Given the description of an element on the screen output the (x, y) to click on. 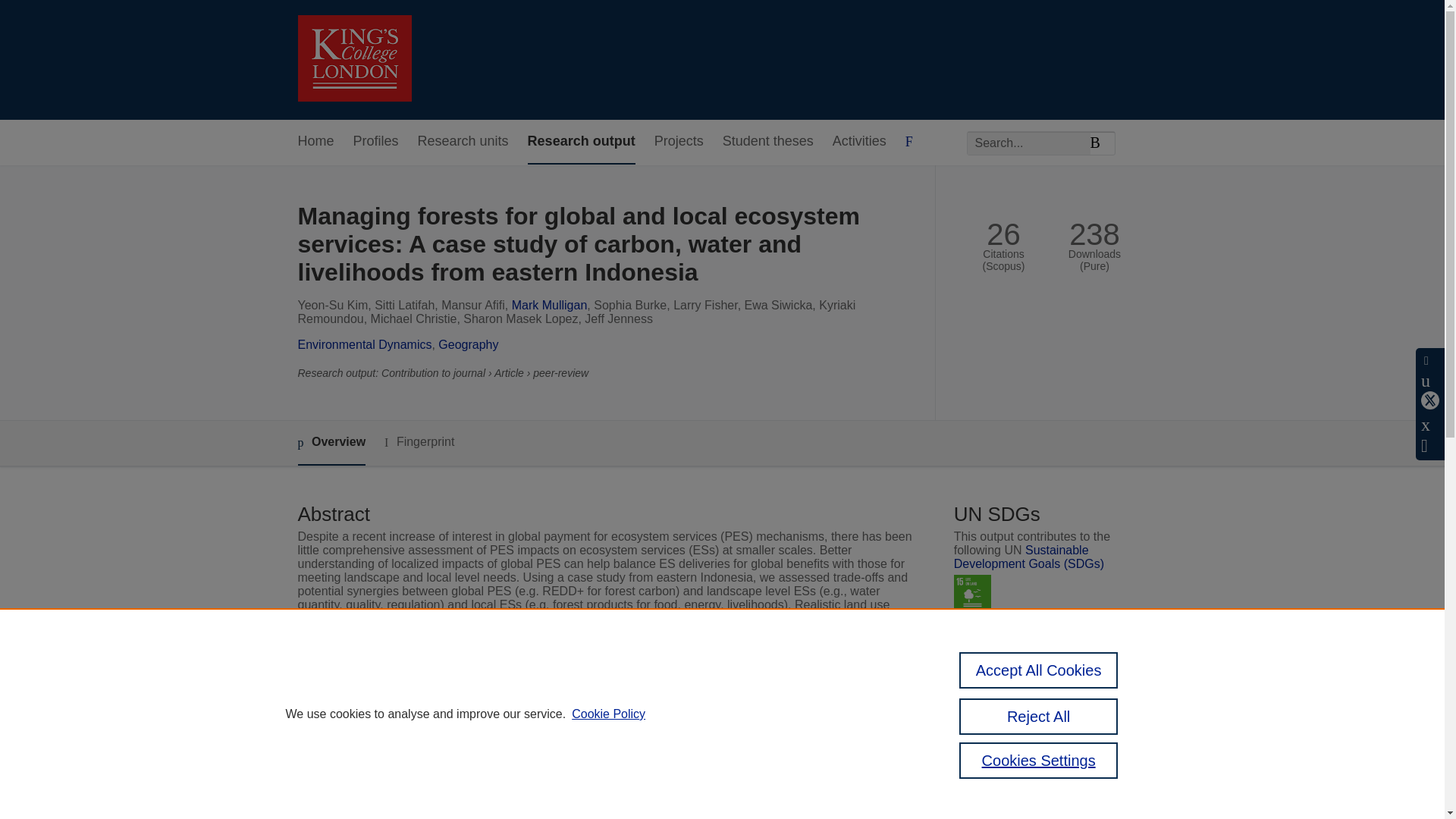
Student theses (767, 141)
Ecosystem Services (564, 759)
SDG 15 - Life on Land (972, 592)
King's College London Home (353, 59)
Activities (859, 141)
Mark Mulligan (550, 305)
CC BY-NC-ND (1038, 746)
Research units (462, 141)
Projects (678, 141)
Research output (580, 141)
